Given the description of an element on the screen output the (x, y) to click on. 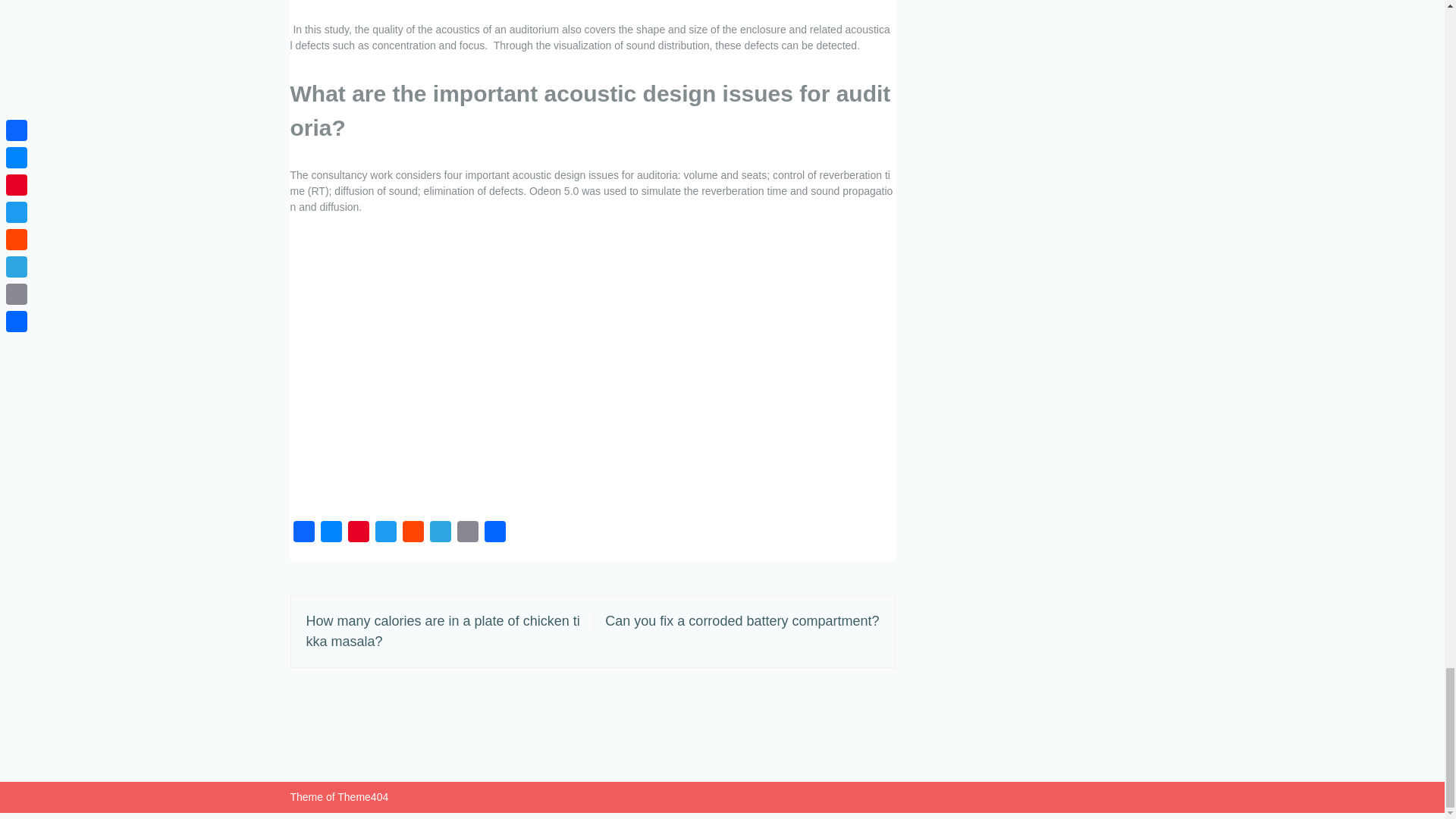
Telegram (439, 534)
Share (494, 534)
Messenger (330, 534)
Pinterest (357, 534)
Messenger (330, 534)
Facebook (303, 534)
Pinterest (357, 534)
How many calories are in a plate of chicken tikka masala? (442, 631)
Reddit (412, 534)
Concert Hall Acoustics Design (531, 367)
